Given the description of an element on the screen output the (x, y) to click on. 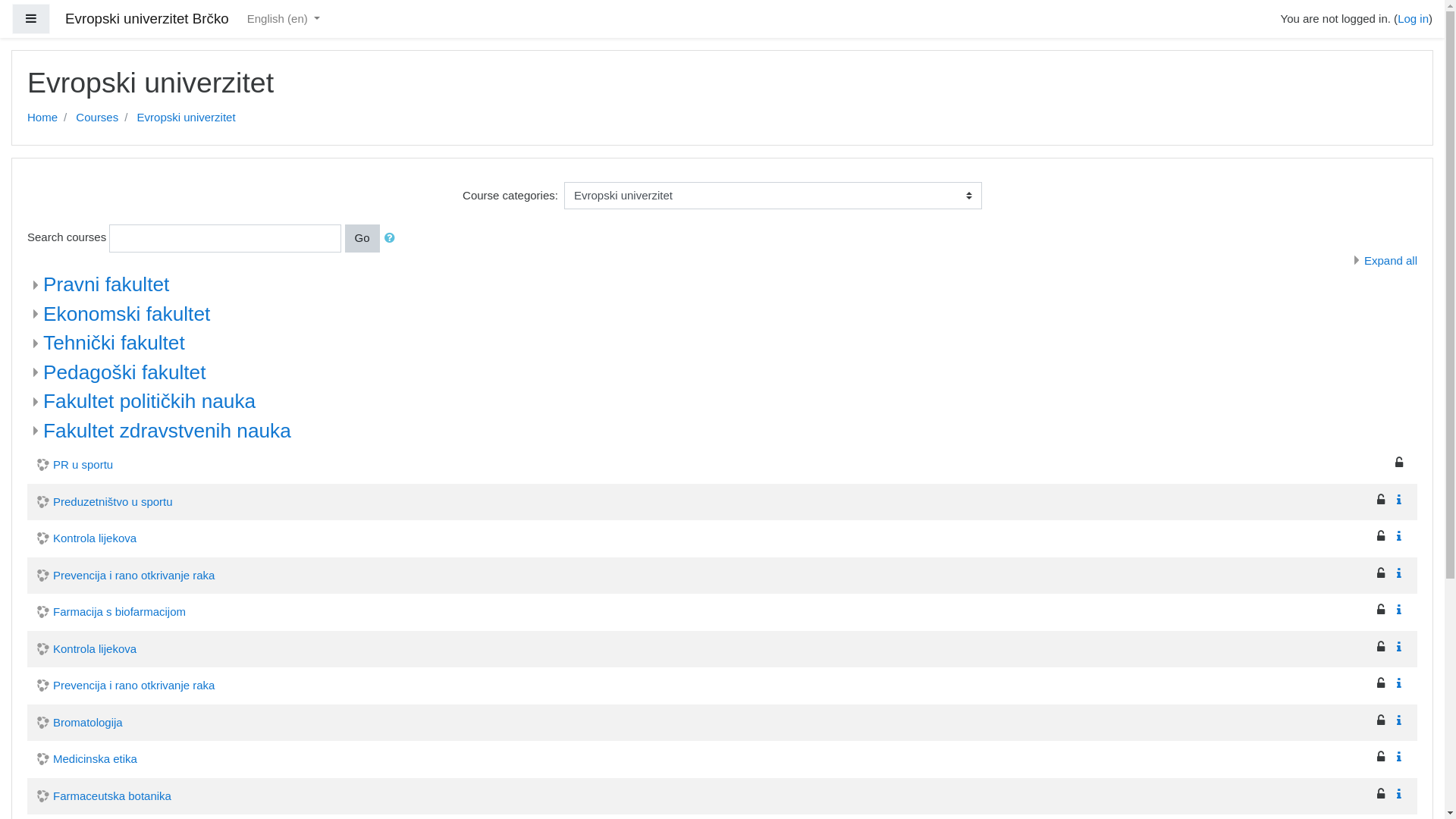
Prevencija i rano otkrivanje raka Element type: text (125, 575)
Log in Element type: text (1412, 18)
Guest access Element type: hover (1380, 536)
Guest access Element type: hover (1399, 462)
Farmacija s biofarmacijom Element type: text (111, 612)
Guest access Element type: hover (1380, 720)
Kontrola lijekova Element type: text (86, 648)
Summary Element type: hover (1402, 720)
Summary Element type: hover (1402, 573)
Bromatologija Element type: text (79, 722)
Pravni fakultet Element type: text (106, 284)
Guest access Element type: hover (1380, 756)
Courses Element type: text (96, 116)
Summary Element type: hover (1402, 646)
Summary Element type: hover (1399, 683)
Ekonomski fakultet Element type: text (126, 312)
Summary Element type: hover (1402, 683)
Fakultet zdravstvenih nauka Element type: text (167, 429)
Summary Element type: hover (1399, 756)
Summary Element type: hover (1402, 536)
Expand all Element type: text (1383, 259)
Summary Element type: hover (1399, 793)
Summary Element type: hover (1402, 793)
Farmaceutska botanika Element type: text (104, 795)
Guest access Element type: hover (1380, 683)
Summary Element type: hover (1399, 646)
Summary Element type: hover (1402, 756)
Help with Search courses Element type: hover (389, 237)
Kontrola lijekova Element type: text (86, 538)
Home Element type: text (42, 116)
Guest access Element type: hover (1380, 646)
Summary Element type: hover (1399, 573)
Summary Element type: hover (1399, 609)
Summary Element type: hover (1402, 498)
Summary Element type: hover (1399, 536)
Go Element type: text (362, 238)
Guest access Element type: hover (1380, 609)
Summary Element type: hover (1402, 609)
Evropski univerzitet Element type: text (186, 116)
Side panel Element type: text (31, 18)
Guest access Element type: hover (1380, 573)
Summary Element type: hover (1399, 498)
Prevencija i rano otkrivanje raka Element type: text (125, 685)
Guest access Element type: hover (1380, 498)
Guest access Element type: hover (1380, 793)
Summary Element type: hover (1399, 720)
Medicinska etika Element type: text (87, 759)
English (en) Element type: text (283, 19)
PR u sportu Element type: text (74, 464)
